Given the description of an element on the screen output the (x, y) to click on. 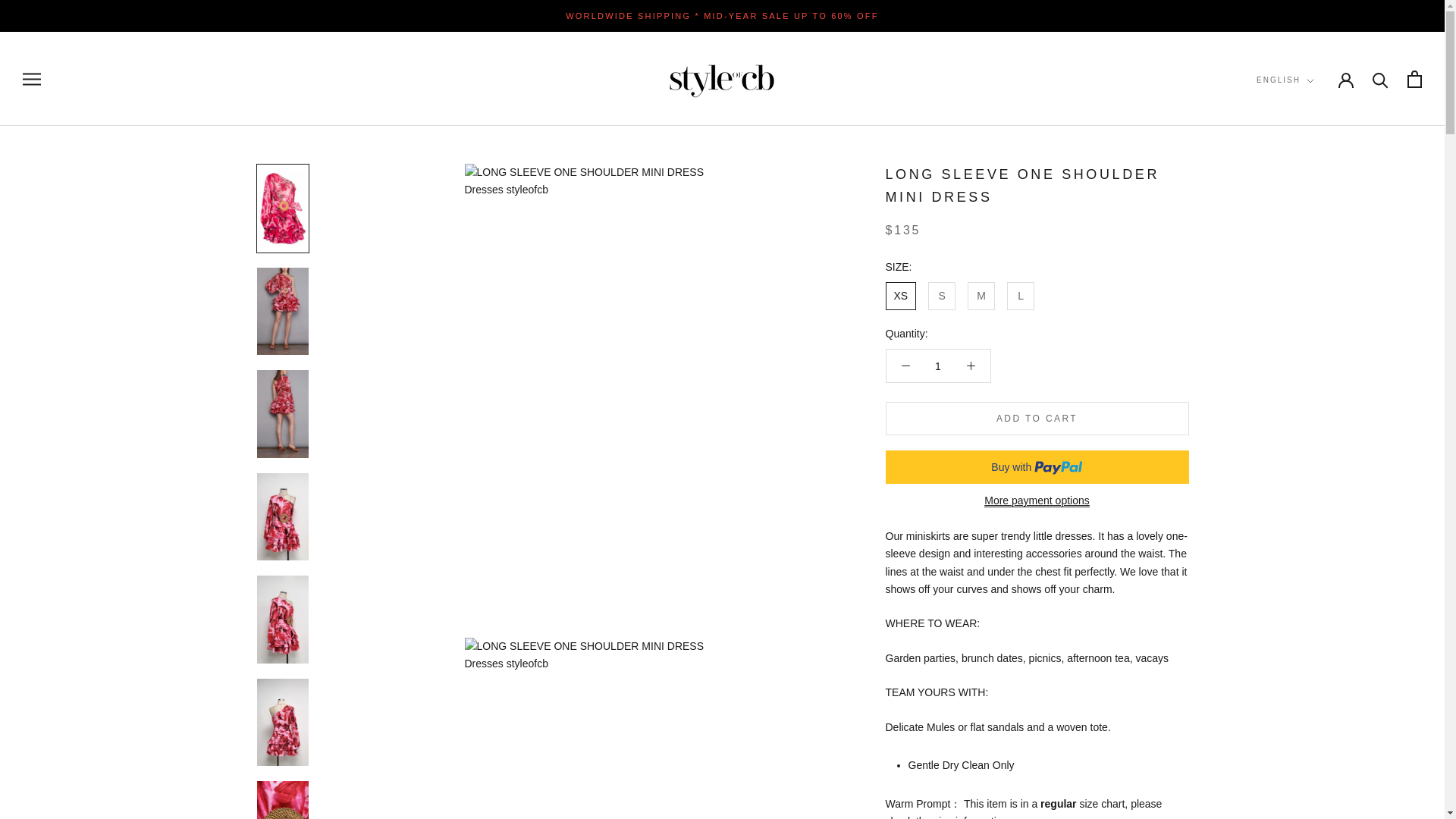
1 (938, 366)
